Given the description of an element on the screen output the (x, y) to click on. 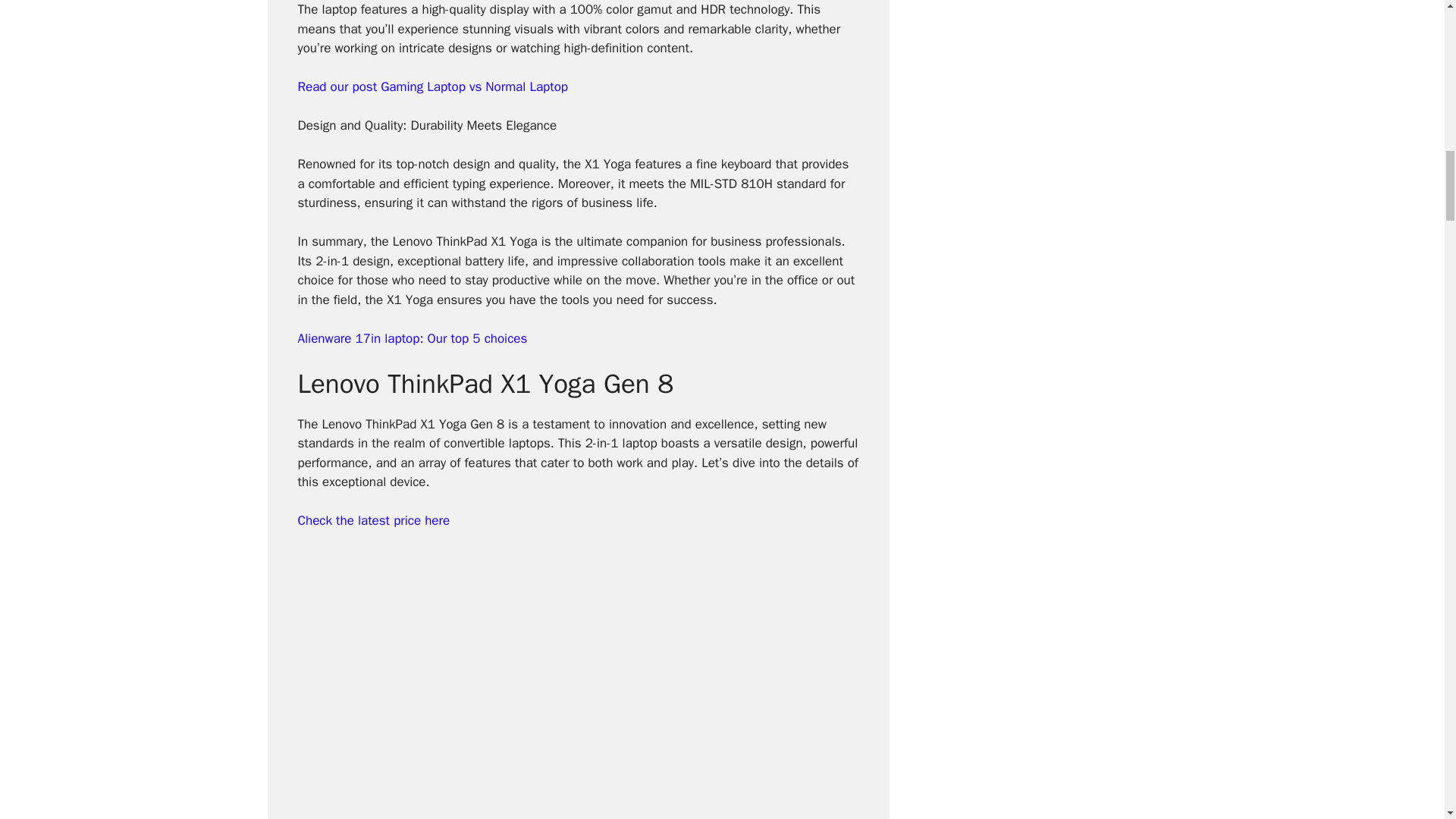
Alienware 17in laptop: Our top 5 choices (412, 338)
Read our post Gaming Laptop vs Normal Laptop (432, 86)
Check the latest price here (373, 520)
